Given the description of an element on the screen output the (x, y) to click on. 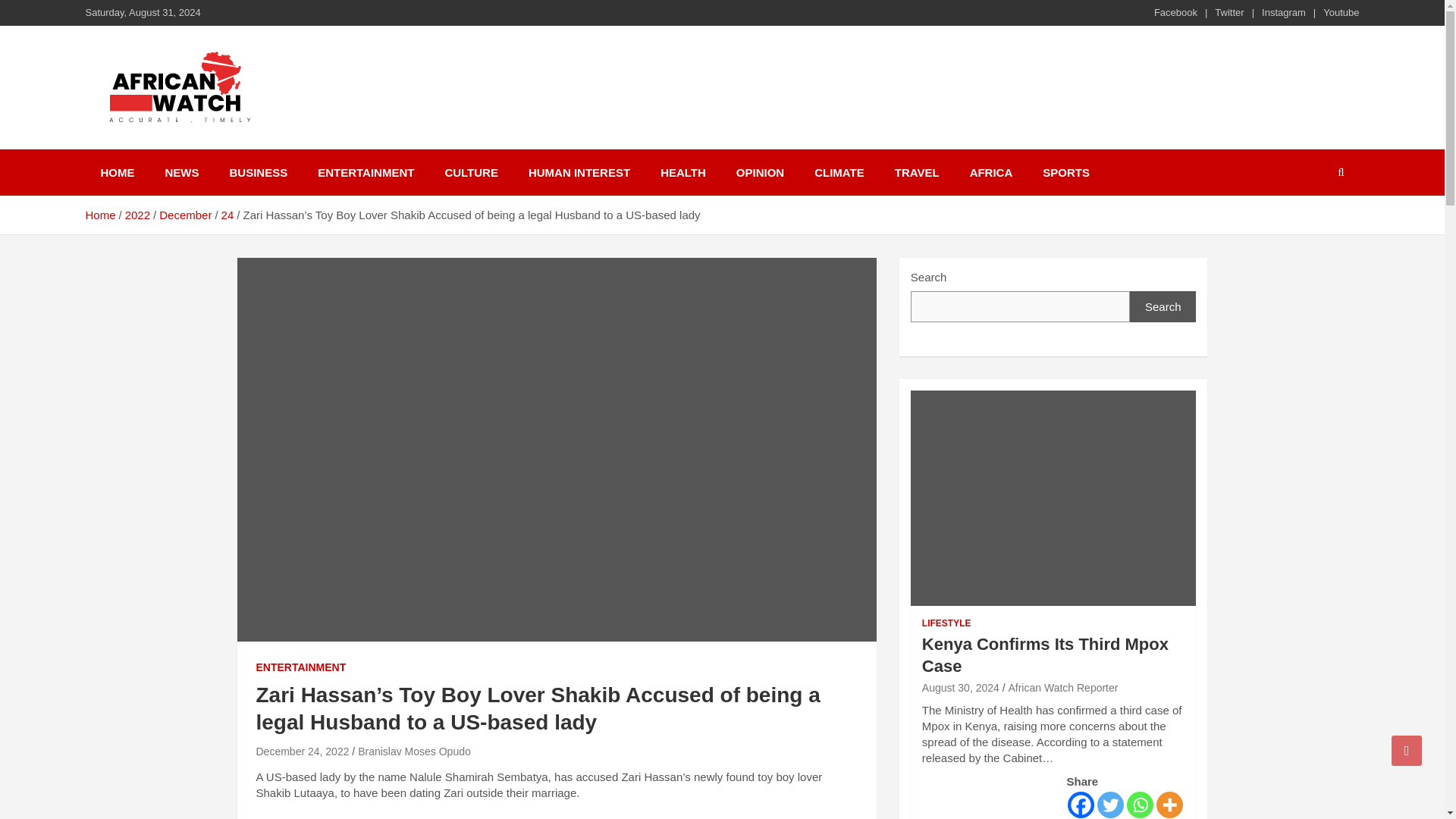
TRAVEL (917, 172)
Kenya Confirms Its Third Mpox Case (959, 687)
2022 (137, 214)
NEWS (181, 172)
BUSINESS (258, 172)
Twitter (1110, 804)
HEALTH (682, 172)
December (184, 214)
December 24, 2022 (302, 751)
ENTERTAINMENT (301, 667)
